Given the description of an element on the screen output the (x, y) to click on. 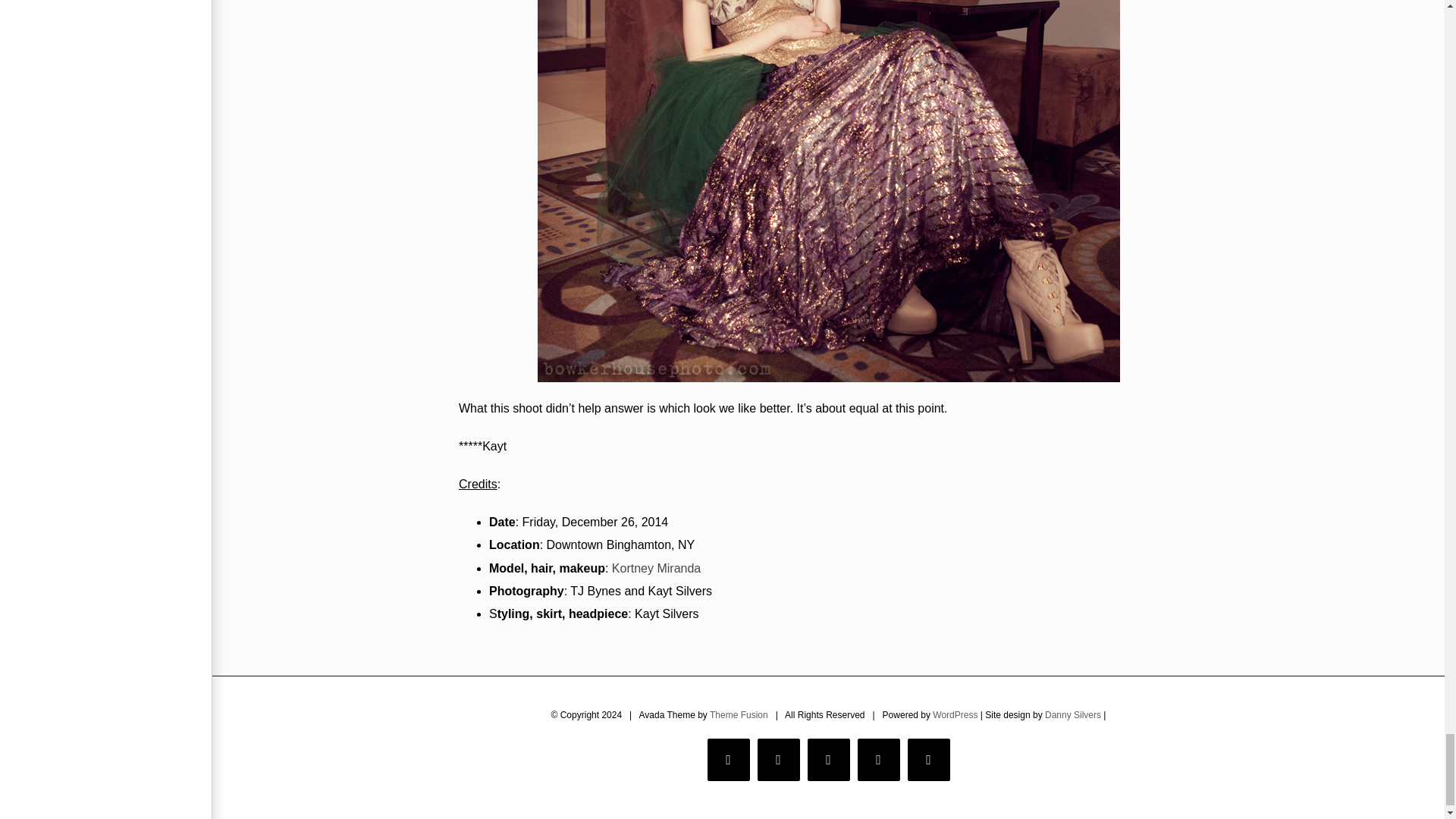
Kortney Miranda (655, 567)
WordPress (954, 715)
Instagram (827, 759)
Facebook (727, 759)
Danny Silvers (1072, 715)
Vimeo (878, 759)
YouTube (928, 759)
Twitter (778, 759)
Theme Fusion (739, 715)
